Given the description of an element on the screen output the (x, y) to click on. 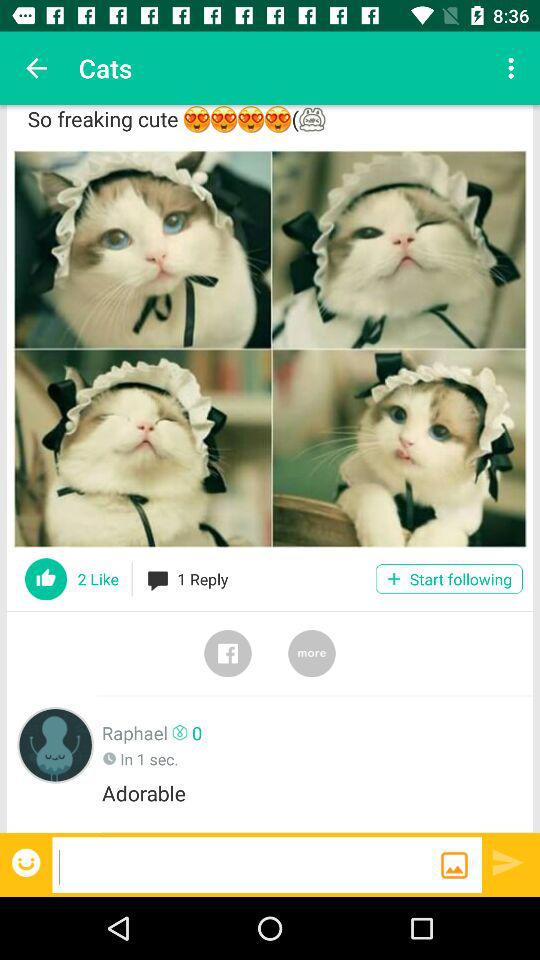
text box to enter comment (246, 864)
